Given the description of an element on the screen output the (x, y) to click on. 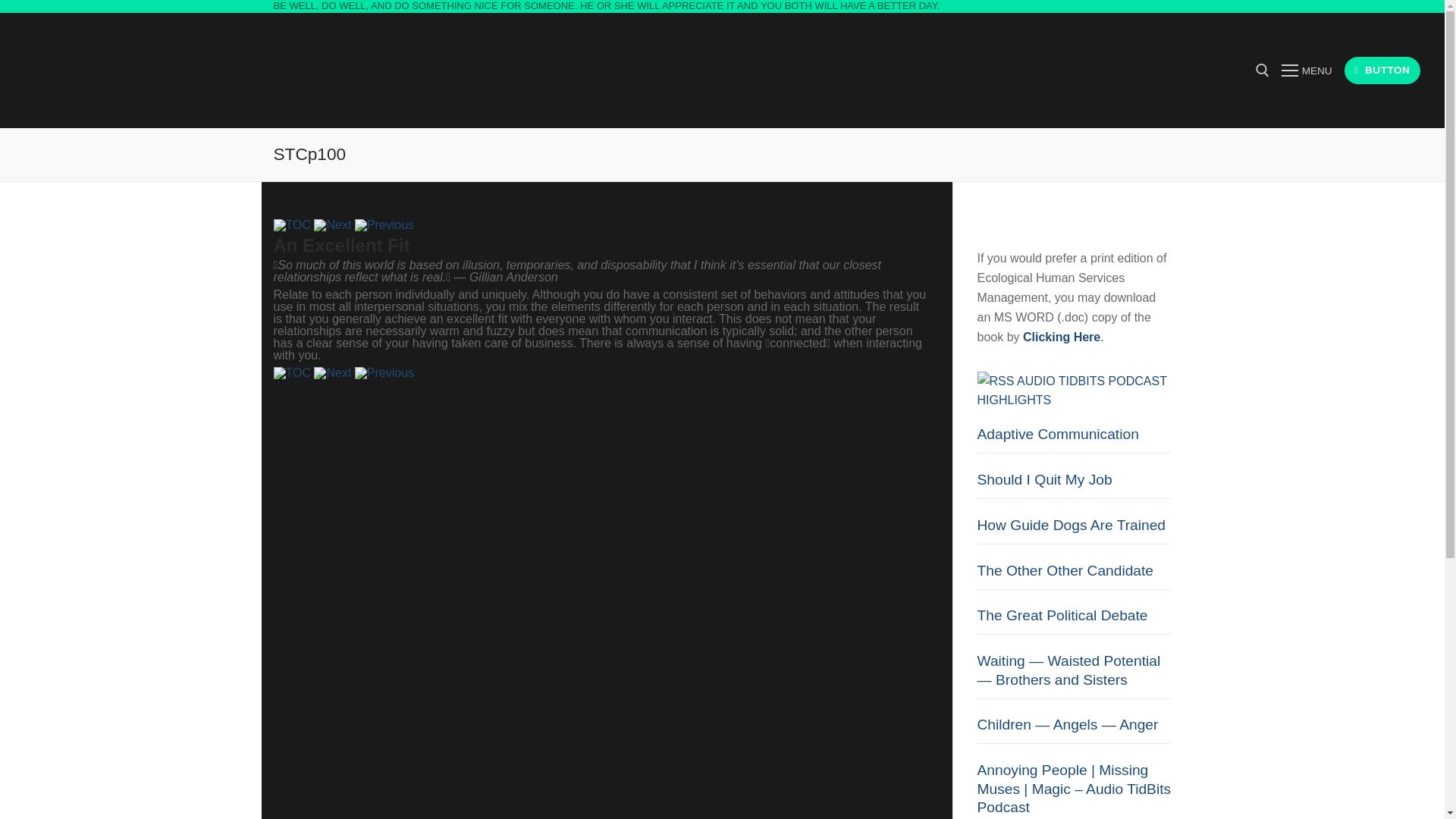
Adaptive Communication (1073, 439)
The Great Political Debate (1073, 620)
The Other Other Candidate (1073, 575)
MENU (1306, 70)
AUDIO TIDBITS PODCAST HIGHLIGHTS (1071, 390)
Should I Quit My Job (1073, 484)
BUTTON (1382, 70)
How Guide Dogs Are Trained (1073, 530)
Clicking Here. (1063, 336)
